Given the description of an element on the screen output the (x, y) to click on. 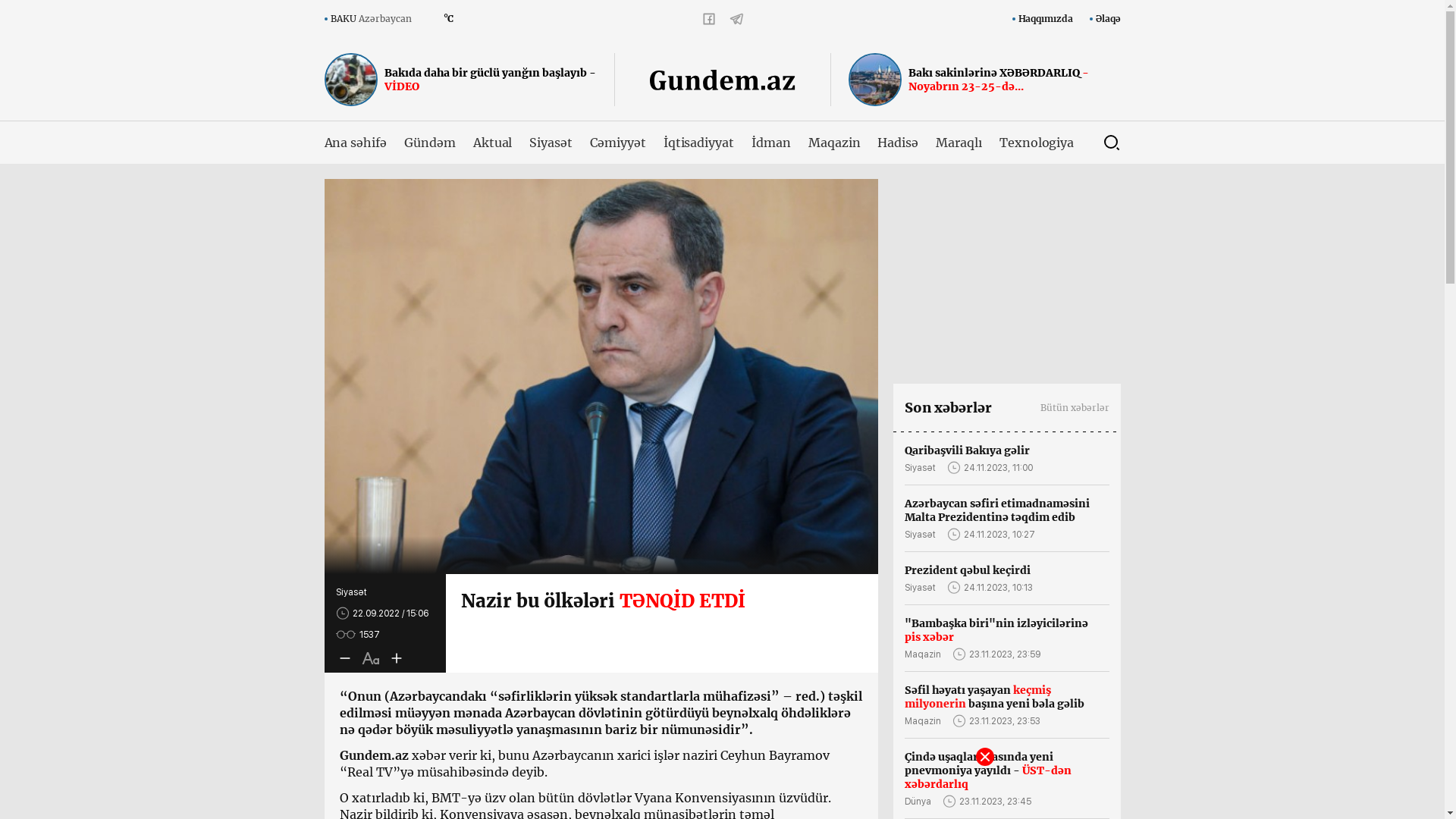
Maqazin Element type: text (834, 142)
Texnologiya Element type: text (1036, 142)
Aktual Element type: text (492, 142)
